Given the description of an element on the screen output the (x, y) to click on. 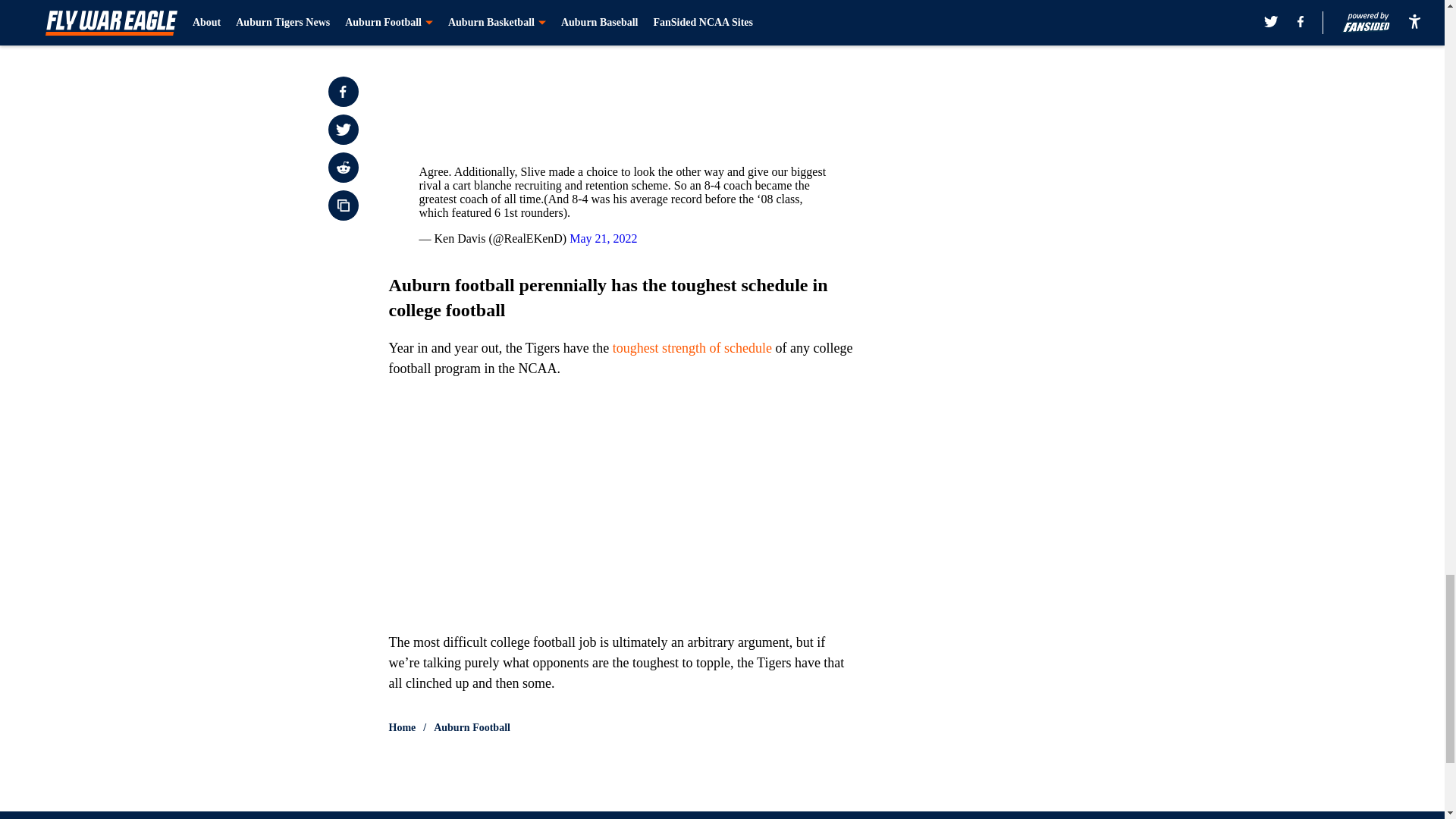
Auburn Football (472, 727)
Home (401, 727)
toughest strength of schedule (691, 347)
May 21, 2022 (603, 237)
